Given the description of an element on the screen output the (x, y) to click on. 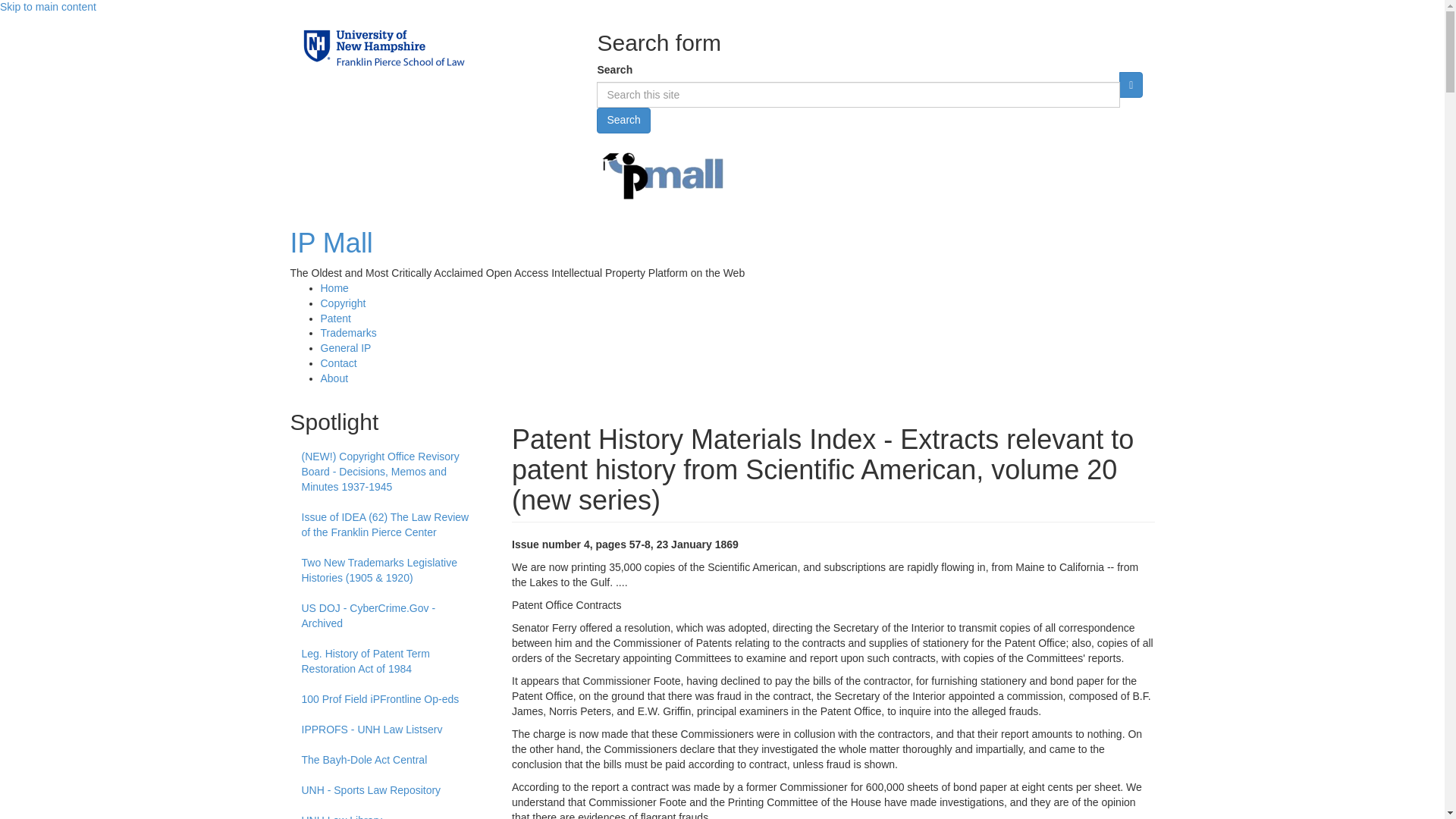
Search (622, 120)
IP Mall (330, 242)
Contact (338, 363)
Copyright (342, 303)
Patent (335, 318)
All Trademark Related IPMall Content (347, 332)
Home (333, 287)
About (333, 378)
General IP (345, 347)
The entire Archived US Cyber Crime website (389, 616)
Home (330, 242)
All Copyright Related IPMall Content (342, 303)
All Patent Related IPMall Content (335, 318)
Contact the IPMall (338, 363)
